Given the description of an element on the screen output the (x, y) to click on. 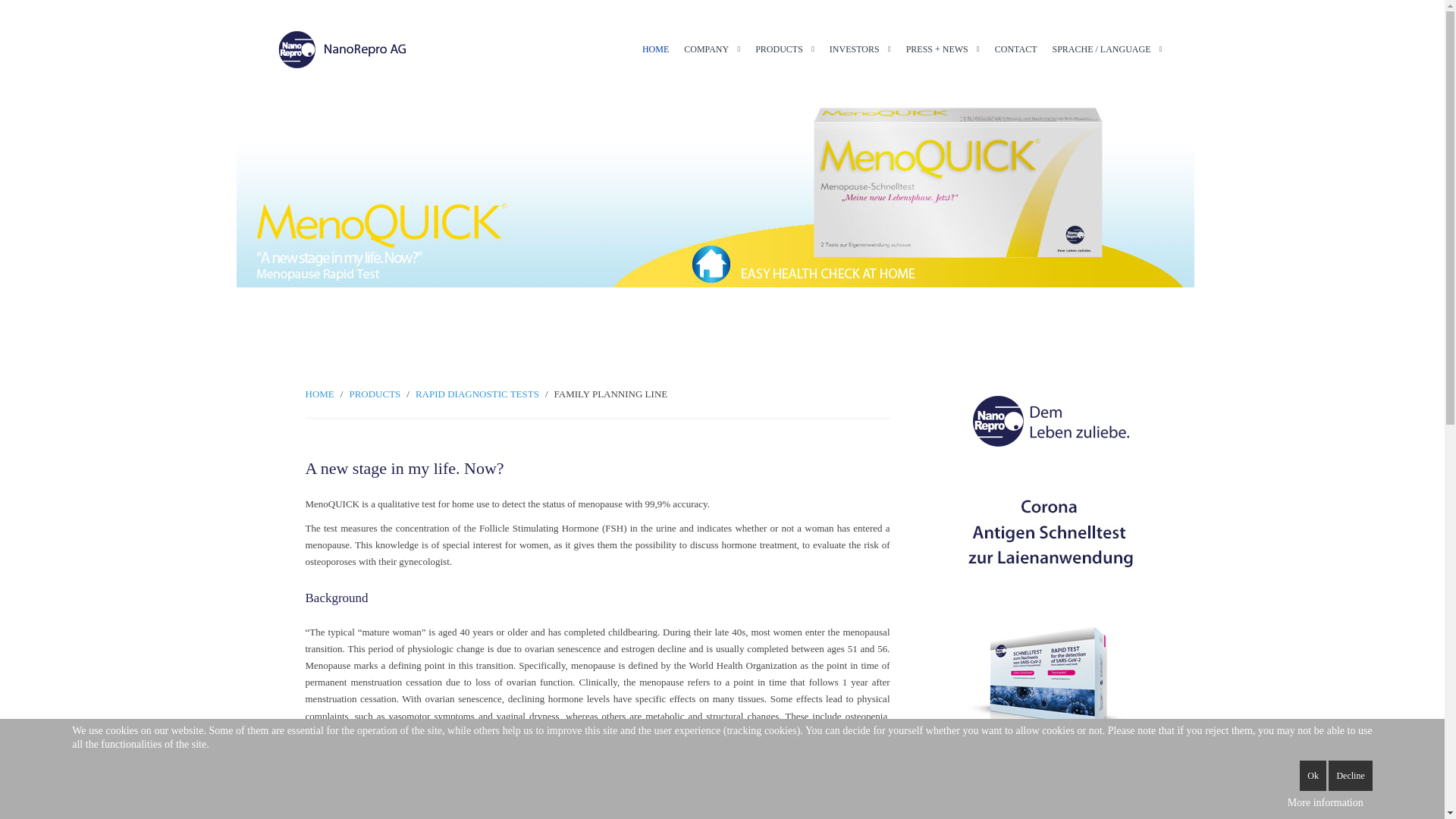
PRODUCTS (785, 49)
COMPANY (712, 49)
CONTACT (1016, 49)
INVESTORS (860, 49)
HOME (655, 49)
PRODUCTS (374, 393)
RAPID DIAGNOSTIC TESTS (476, 393)
HOME (318, 393)
